Given the description of an element on the screen output the (x, y) to click on. 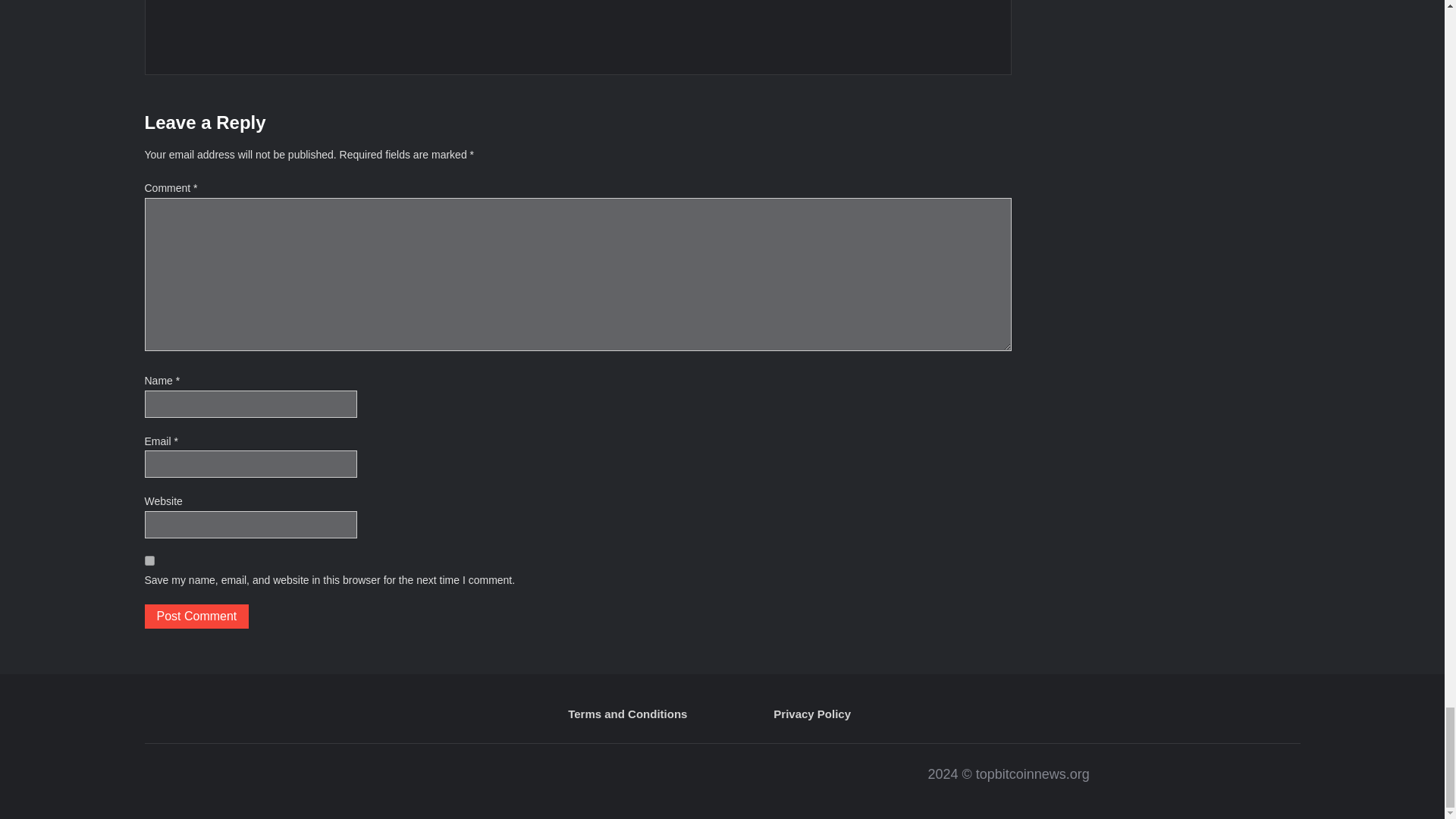
yes (149, 560)
DMCA.com Protection Status (430, 781)
Post Comment (196, 616)
